Given the description of an element on the screen output the (x, y) to click on. 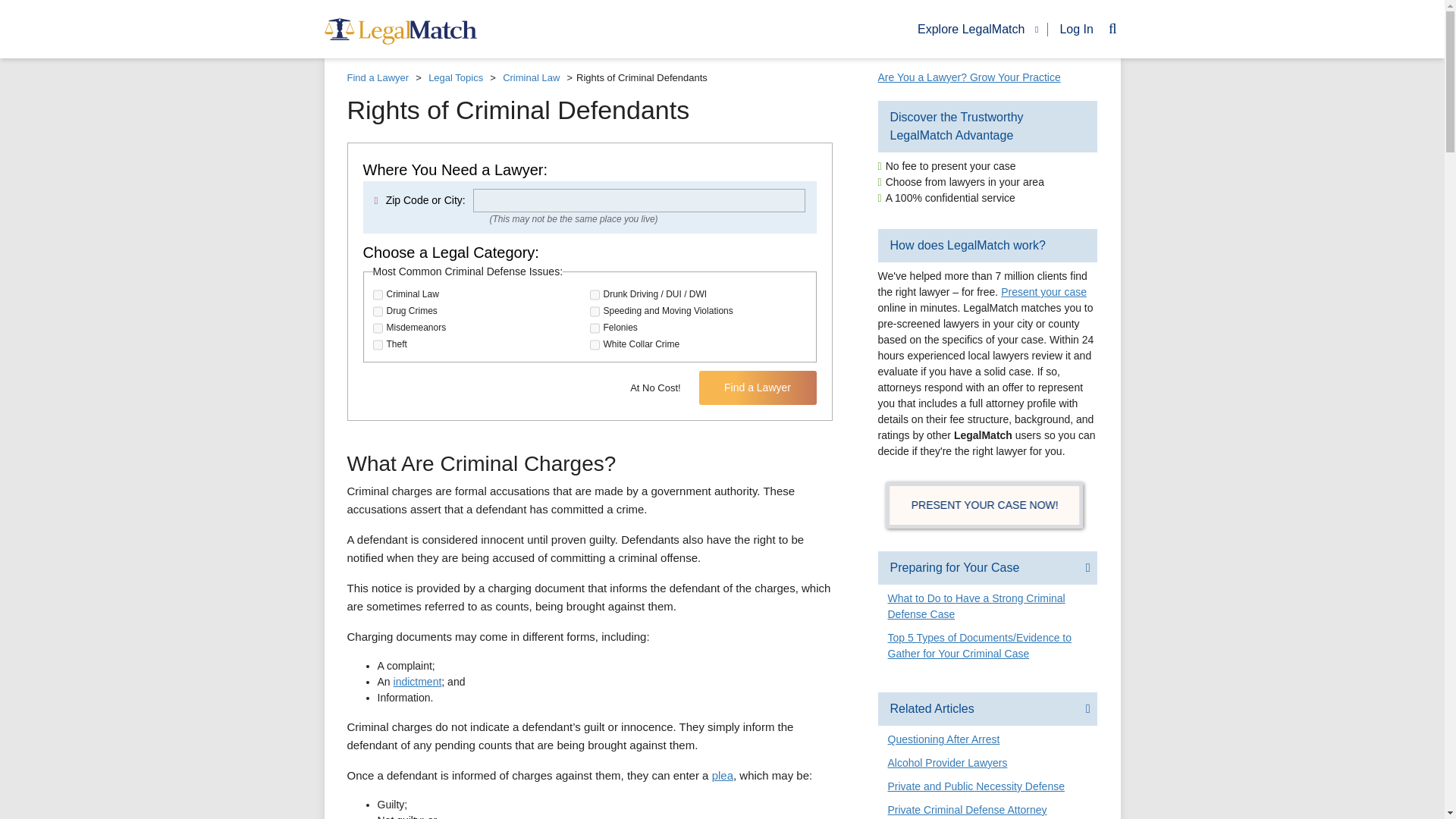
Find a Lawyer (757, 387)
Log In (1070, 29)
